Given the description of an element on the screen output the (x, y) to click on. 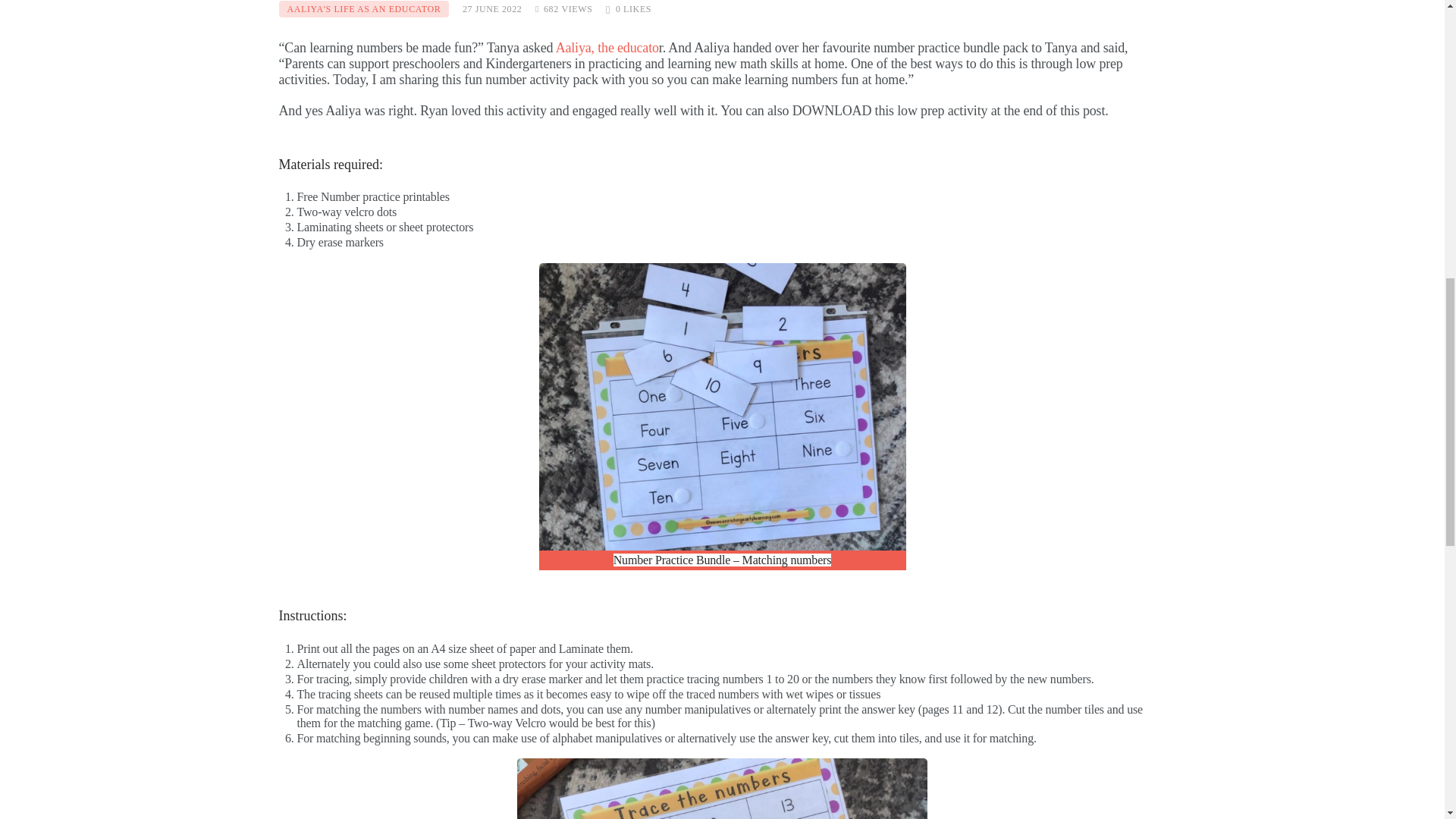
Like (627, 9)
Aaliya, the educato (607, 47)
AALIYA'S LIFE AS AN EDUCATOR (364, 8)
0LIKES (627, 9)
